Given the description of an element on the screen output the (x, y) to click on. 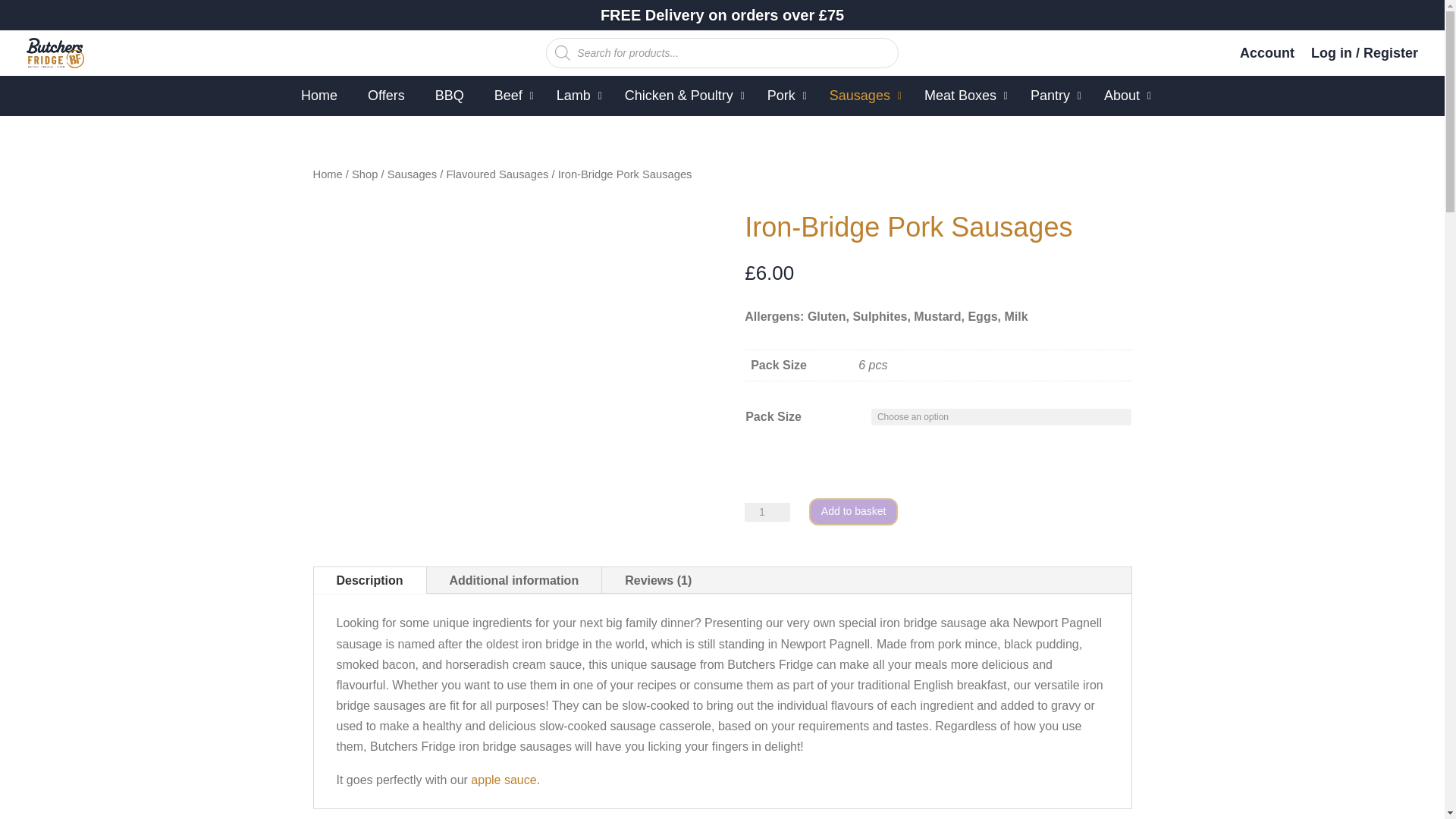
Offers (386, 96)
Beef (510, 96)
1 (767, 511)
Account (1267, 55)
Butchers-Fridge-Logo-V2 (55, 52)
BBQ (449, 96)
Qty (767, 511)
Home (318, 96)
